Given the description of an element on the screen output the (x, y) to click on. 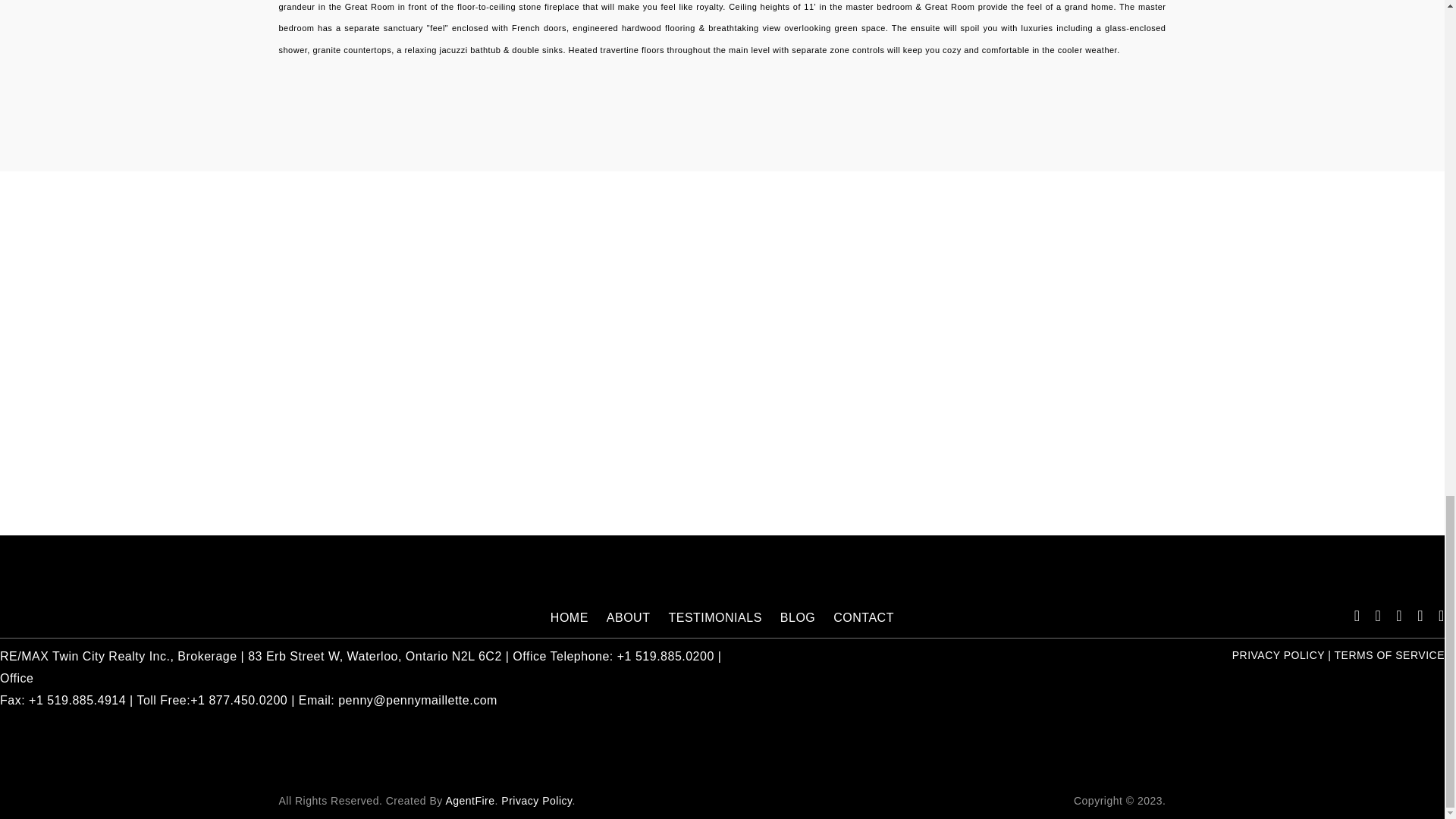
Read our privacy policy (536, 800)
Adress (374, 656)
